Given the description of an element on the screen output the (x, y) to click on. 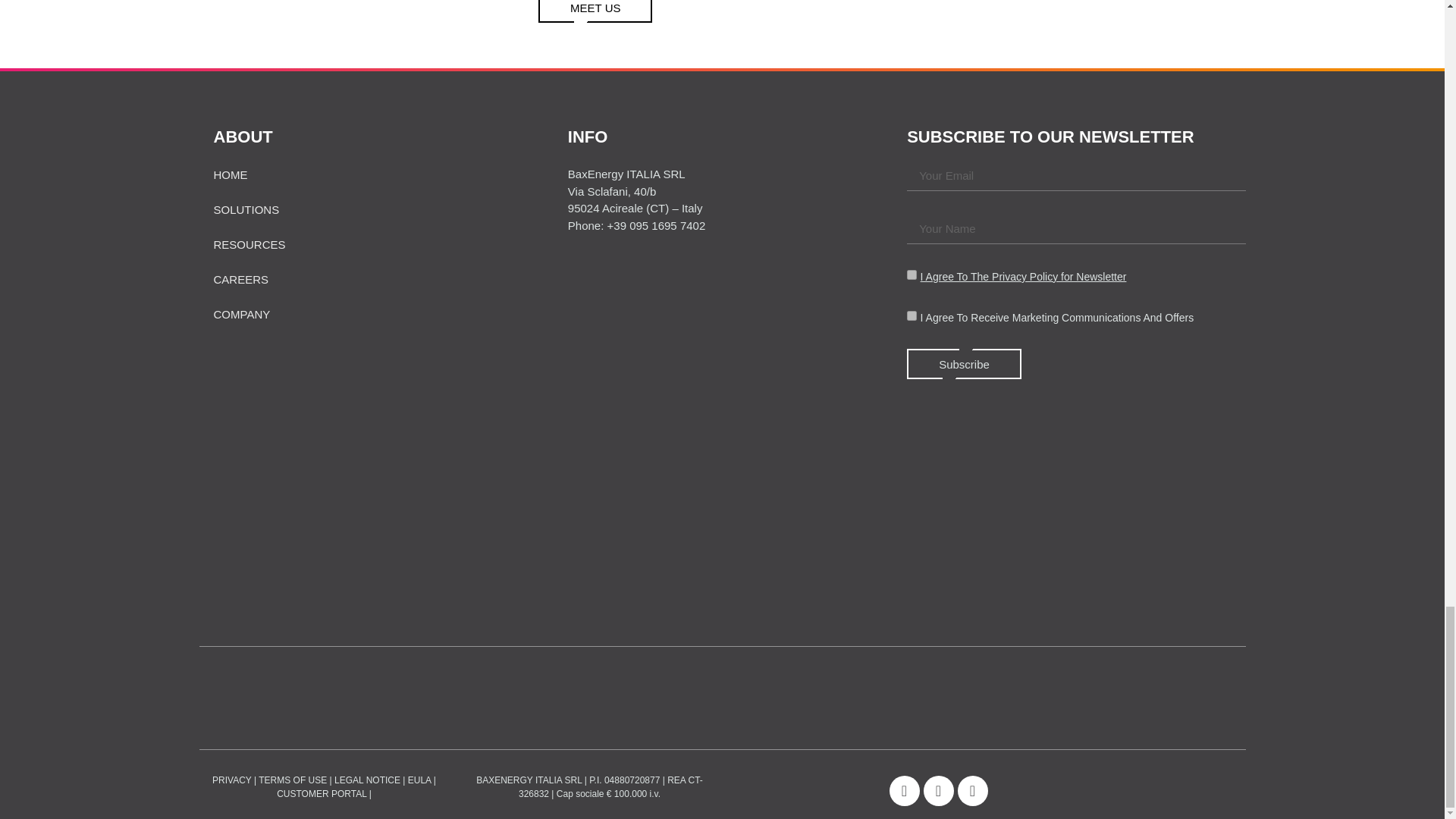
on (912, 275)
MEET US (595, 11)
